Given the description of an element on the screen output the (x, y) to click on. 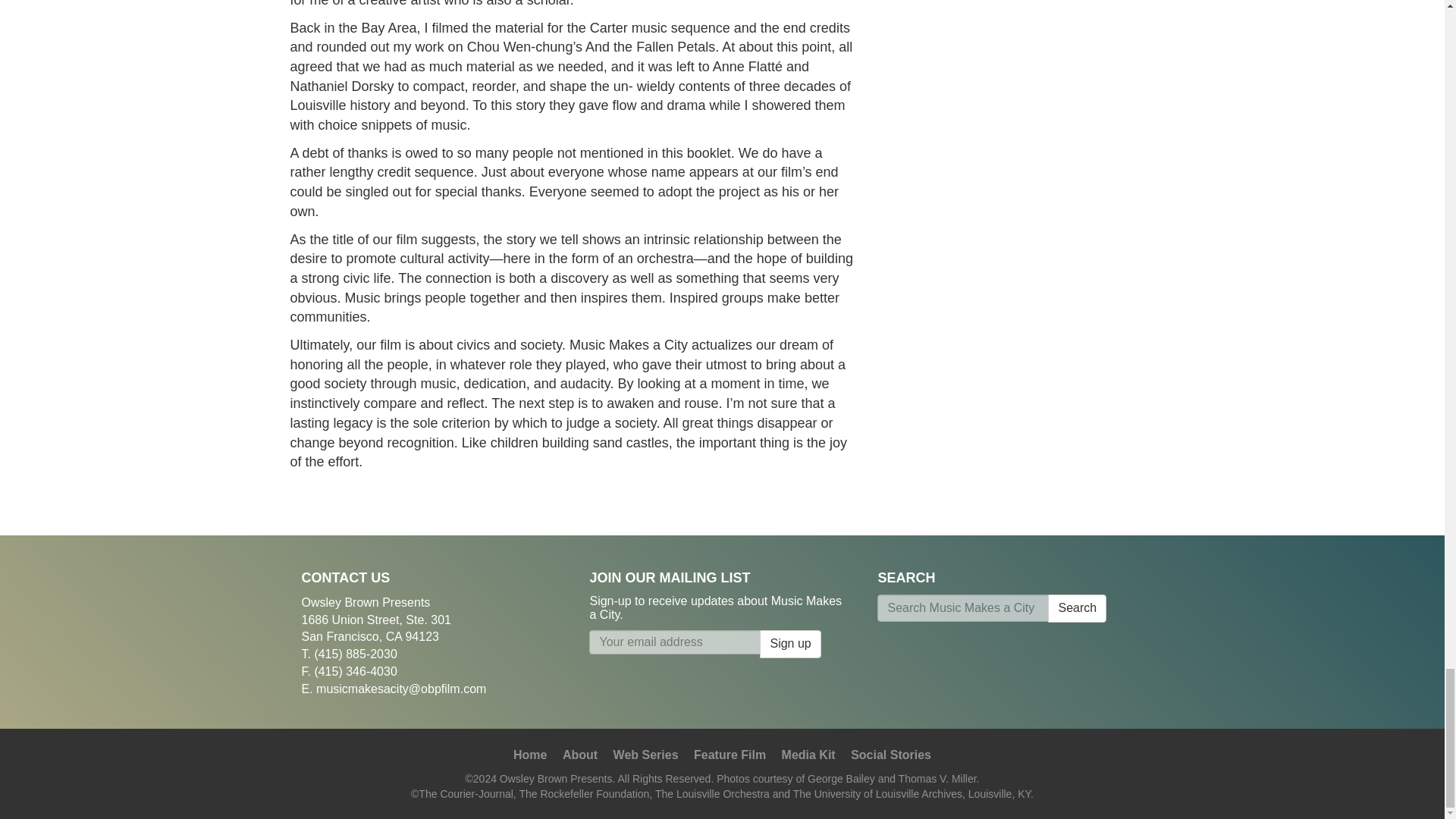
Feature Film (729, 754)
Search (1077, 608)
About (579, 754)
Sign up (790, 643)
Web Series (645, 754)
Media Kit (808, 754)
Social Stories (890, 754)
Home (530, 754)
